Given the description of an element on the screen output the (x, y) to click on. 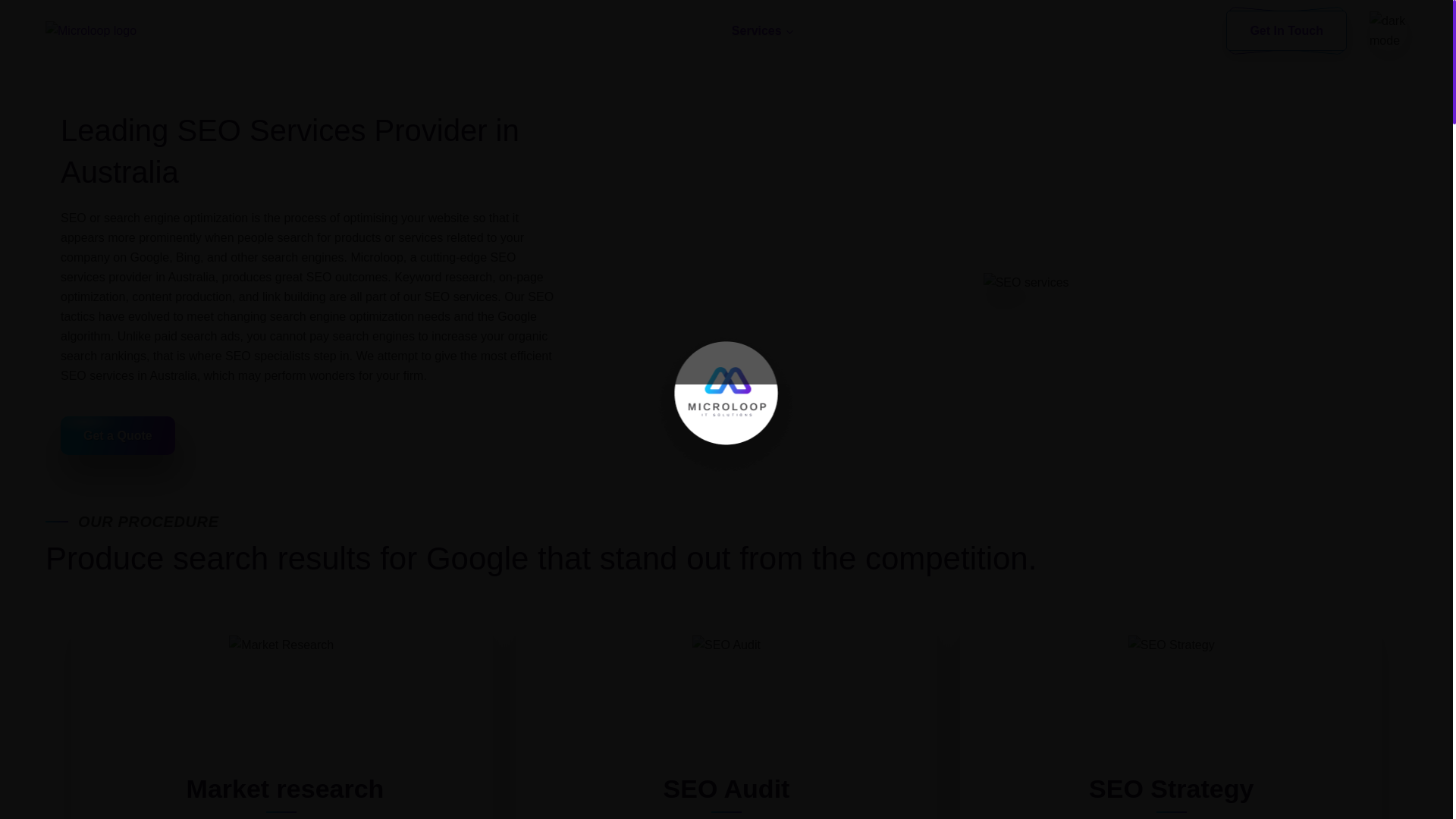
Home (584, 30)
Portfolio (1114, 30)
Career (1032, 30)
Expertise (862, 30)
Get a Quote (117, 435)
Services (761, 30)
About Us (667, 30)
Get In Touch (1285, 30)
Hire Us (954, 30)
